Given the description of an element on the screen output the (x, y) to click on. 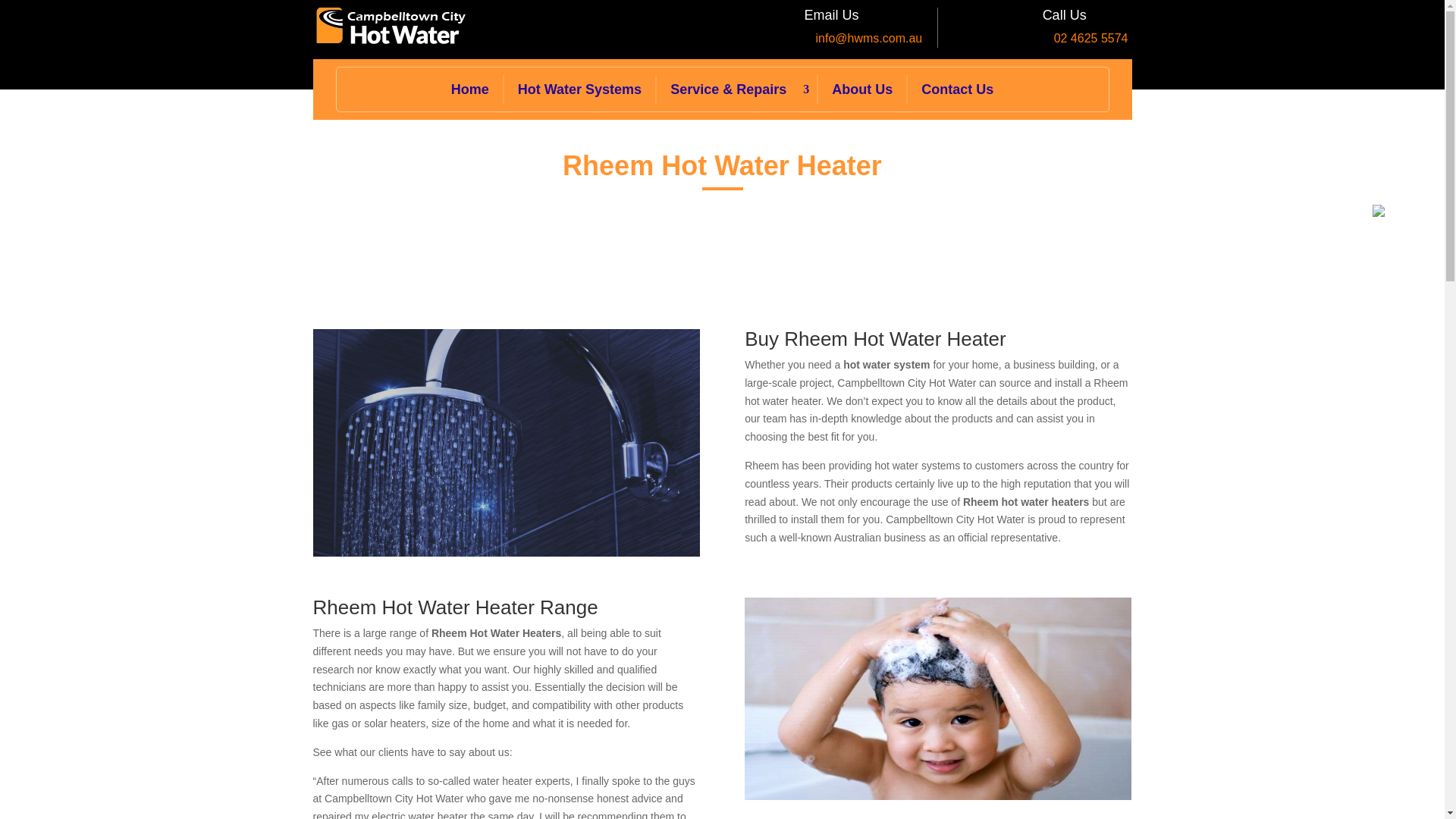
Contact Us (956, 89)
Home (470, 89)
Hot Water Systems (580, 89)
02 4625 5574 (1091, 38)
About Us (861, 89)
